Given the description of an element on the screen output the (x, y) to click on. 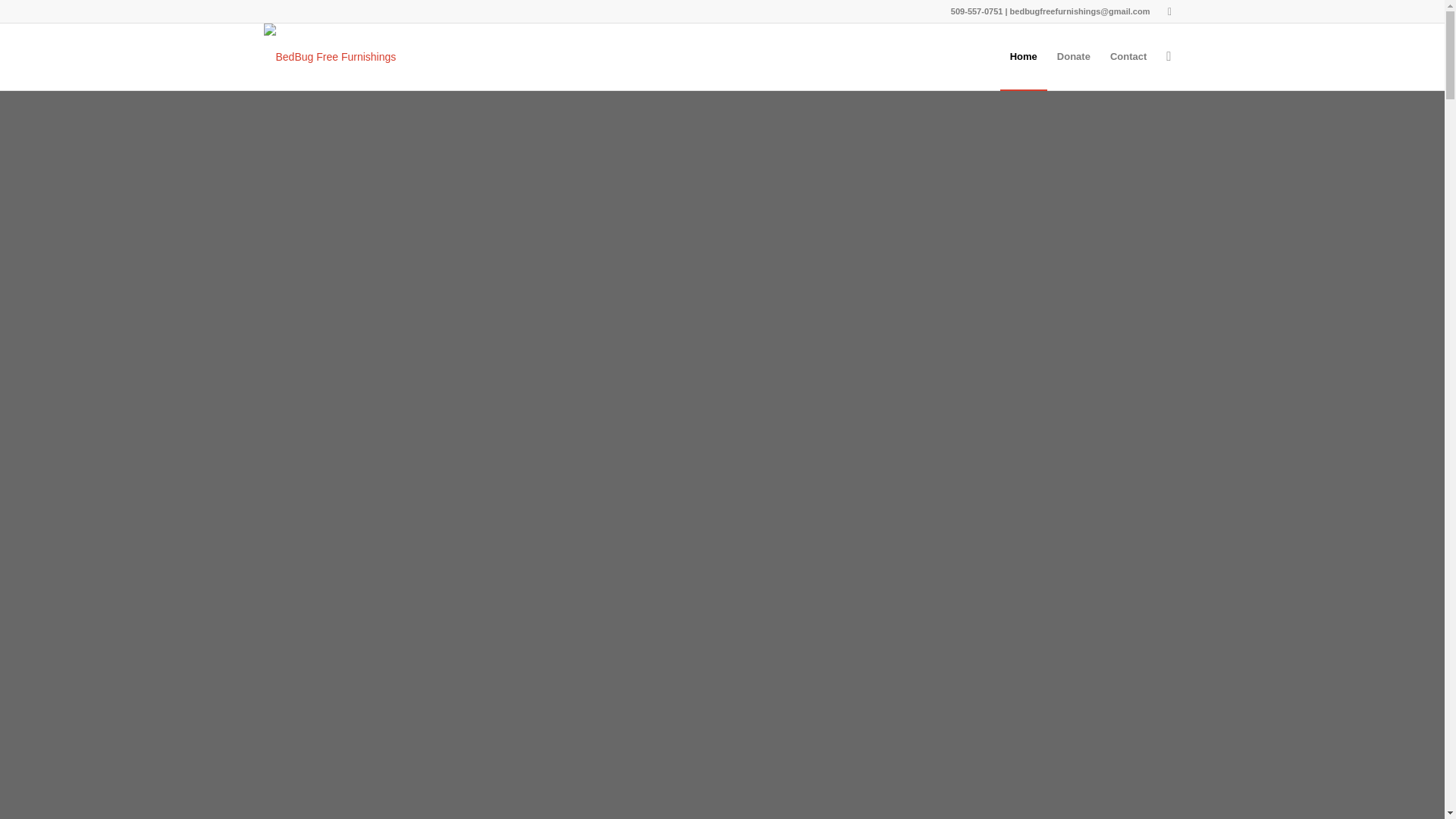
bedbugfreefurnishings-yourbff-logo (329, 45)
Facebook (1169, 11)
509-557-0751 (976, 10)
bedbugfreefurnishings-yourbff-logo (329, 56)
